Given the description of an element on the screen output the (x, y) to click on. 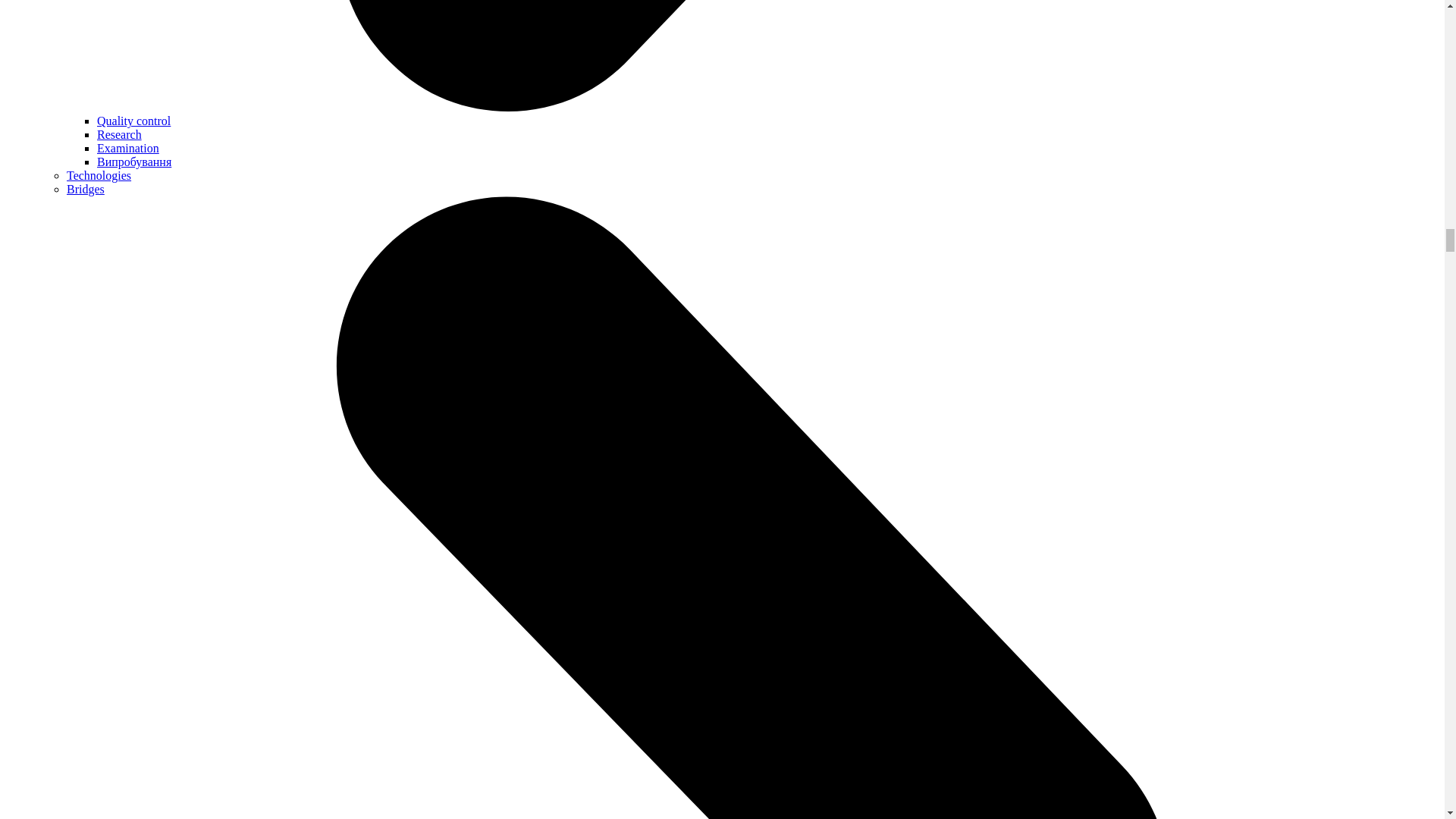
Research (119, 133)
Quality control (133, 120)
Technologies (98, 174)
Examination (127, 147)
